Given the description of an element on the screen output the (x, y) to click on. 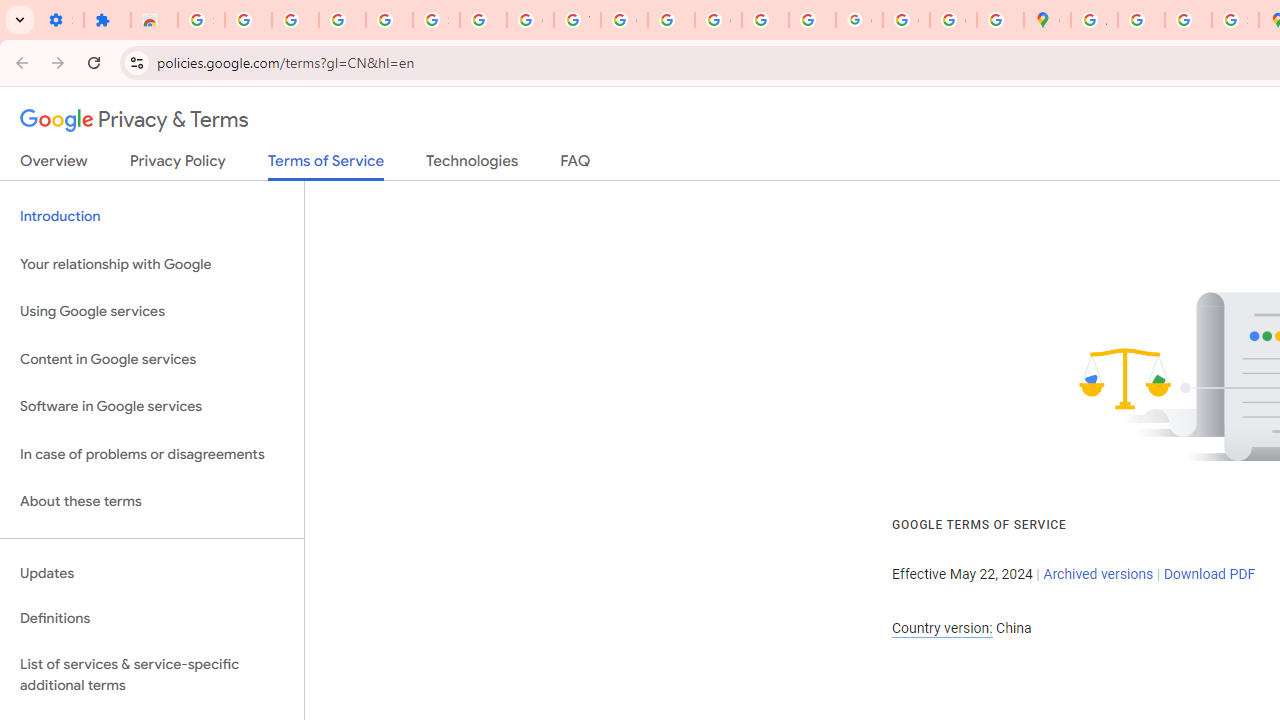
Archived versions (1098, 574)
Content in Google services (152, 358)
Using Google services (152, 312)
Country version: (942, 628)
About these terms (152, 502)
